Given the description of an element on the screen output the (x, y) to click on. 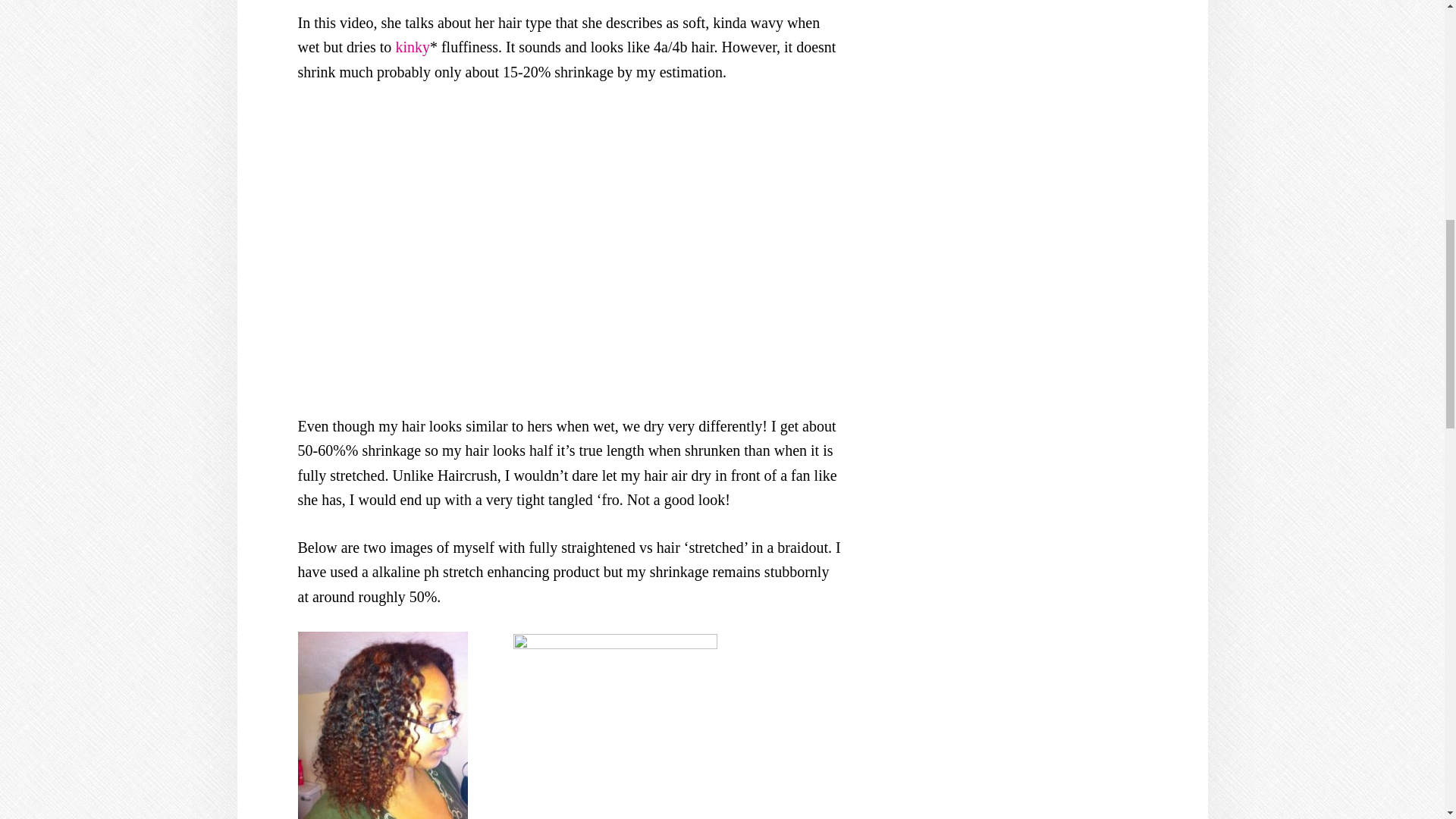
Braidout on wet hair (382, 725)
Straightened Hair (614, 725)
